Given the description of an element on the screen output the (x, y) to click on. 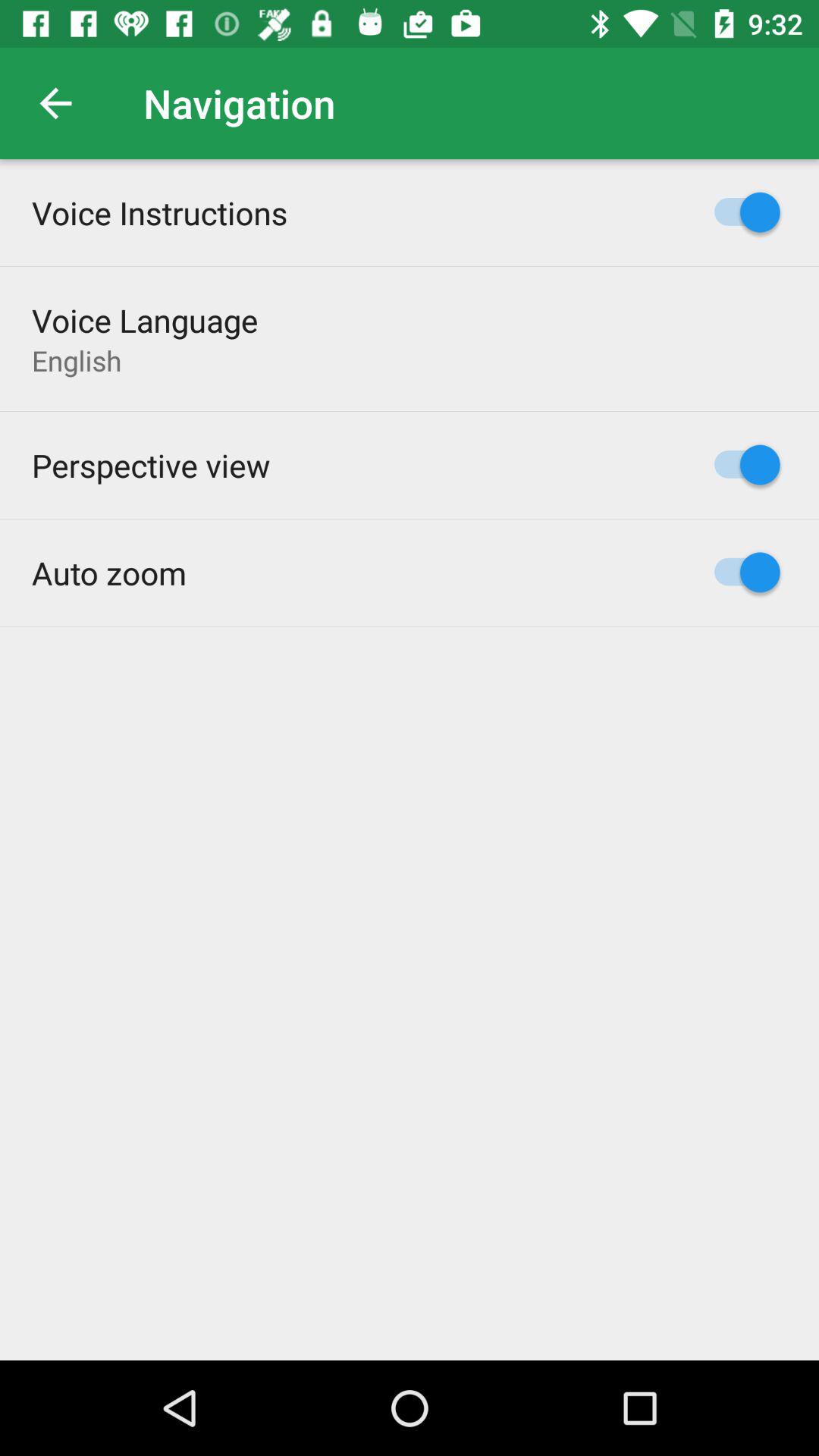
tap the perspective view (150, 464)
